Given the description of an element on the screen output the (x, y) to click on. 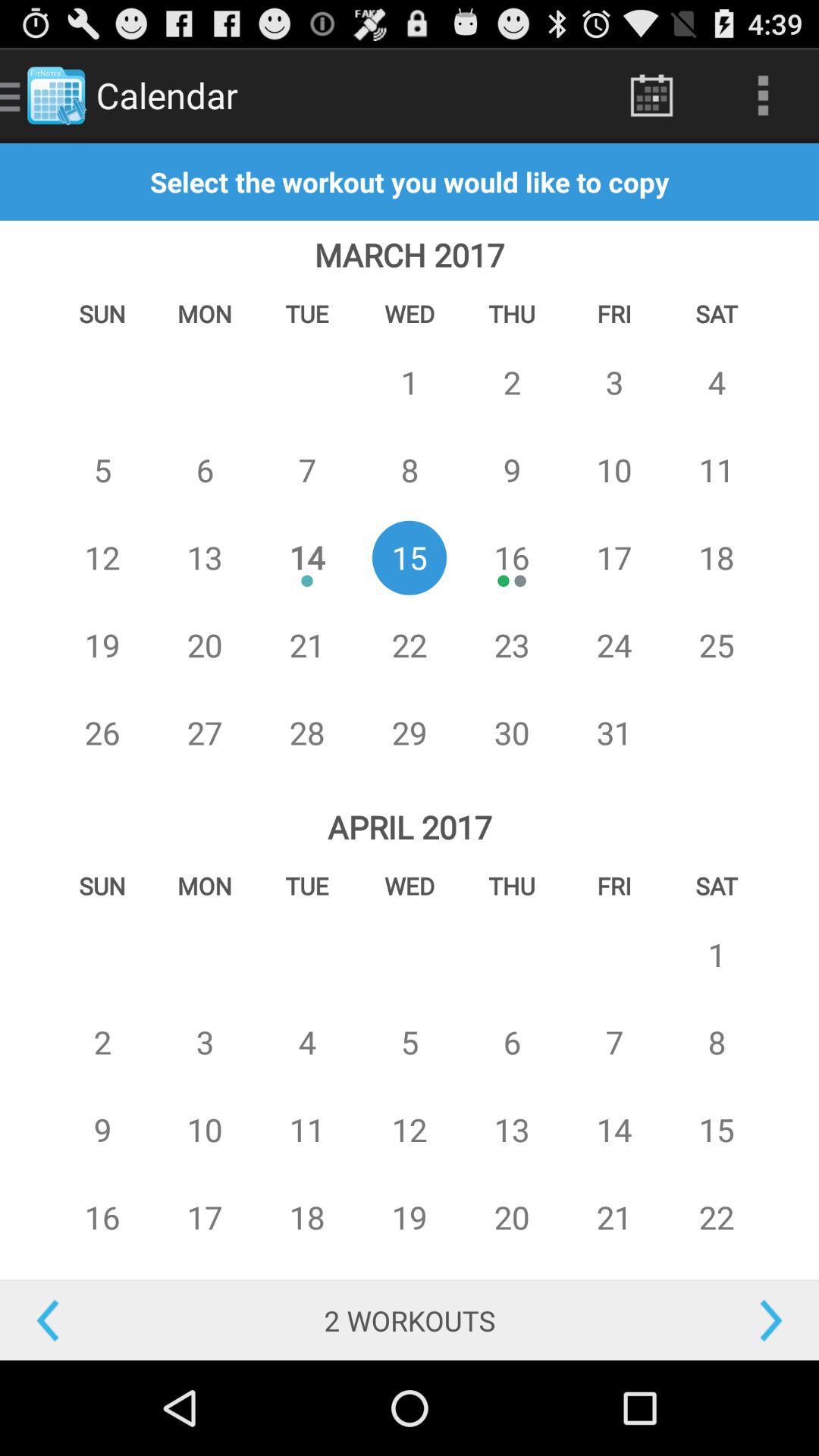
go to previous months (102, 1320)
